Given the description of an element on the screen output the (x, y) to click on. 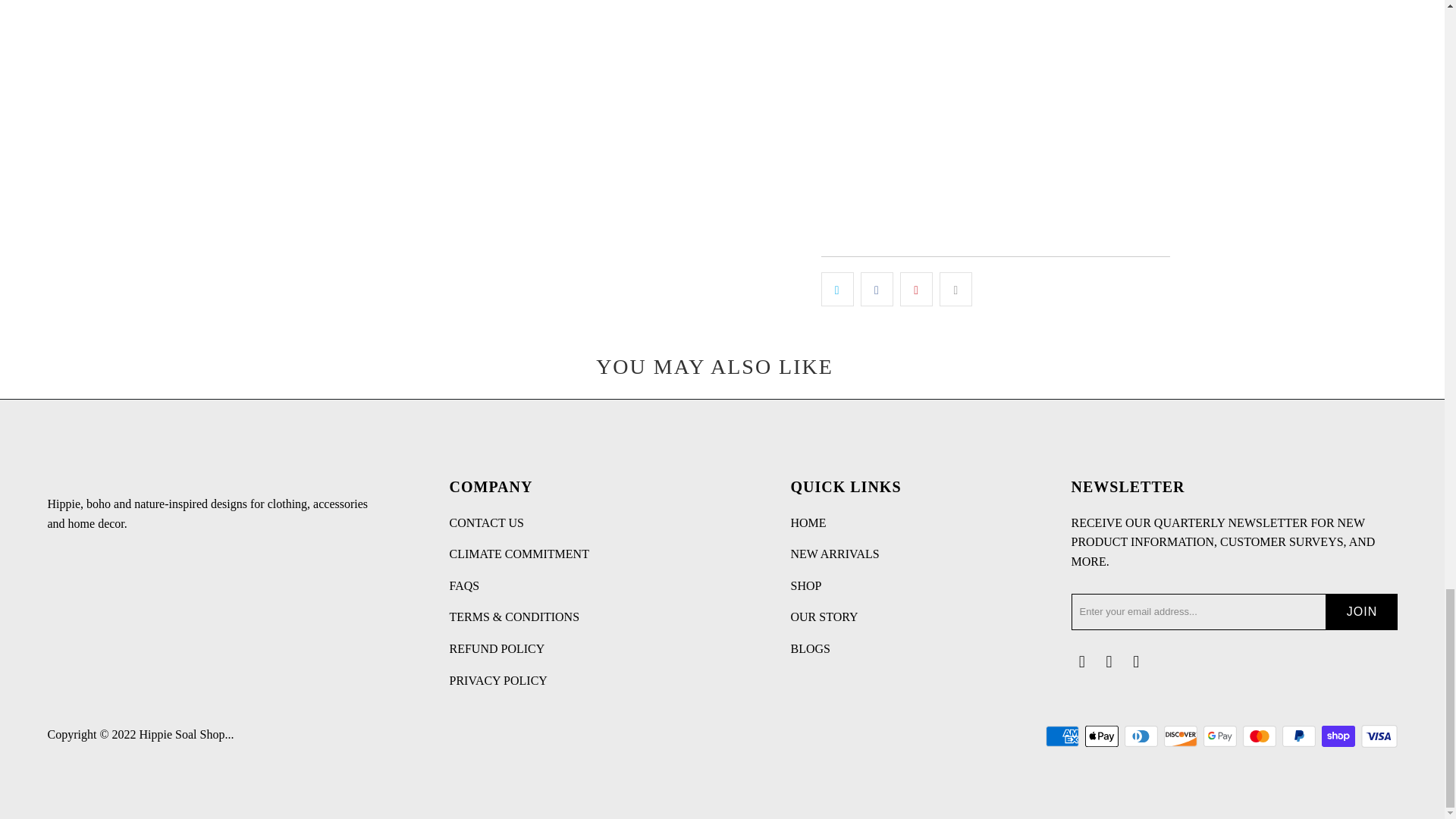
Discover (1181, 735)
Hippie Soul Shop on Facebook (1081, 661)
American Express (1063, 735)
JOIN (1361, 611)
Google Pay (1220, 735)
CONTACT US (485, 522)
CLIMATE COMMITMENT (518, 553)
Share this on Pinterest (916, 289)
Share this on Twitter (837, 289)
Diners Club (1142, 735)
